Given the description of an element on the screen output the (x, y) to click on. 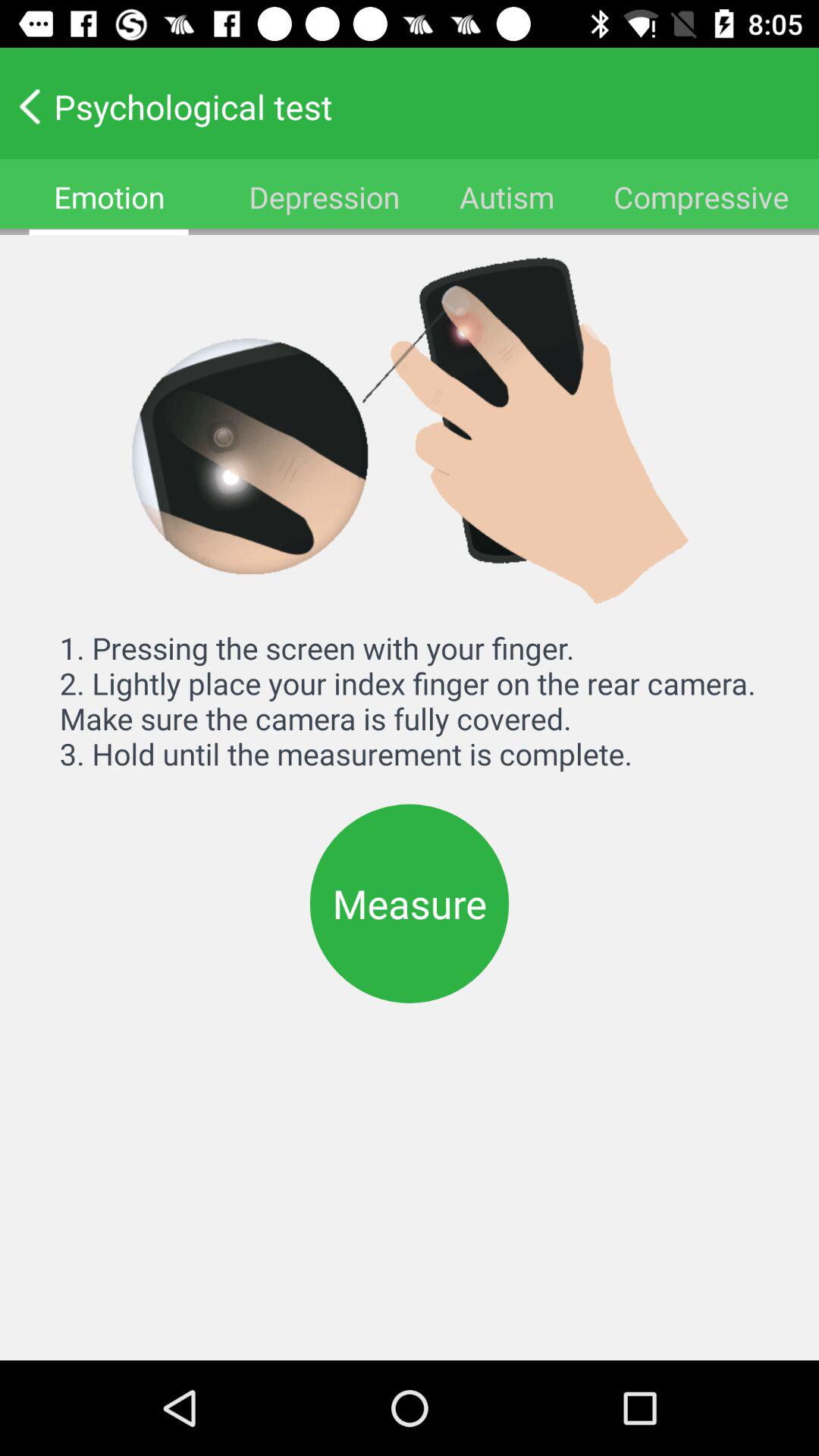
turn off item to the right of the depression icon (506, 196)
